Given the description of an element on the screen output the (x, y) to click on. 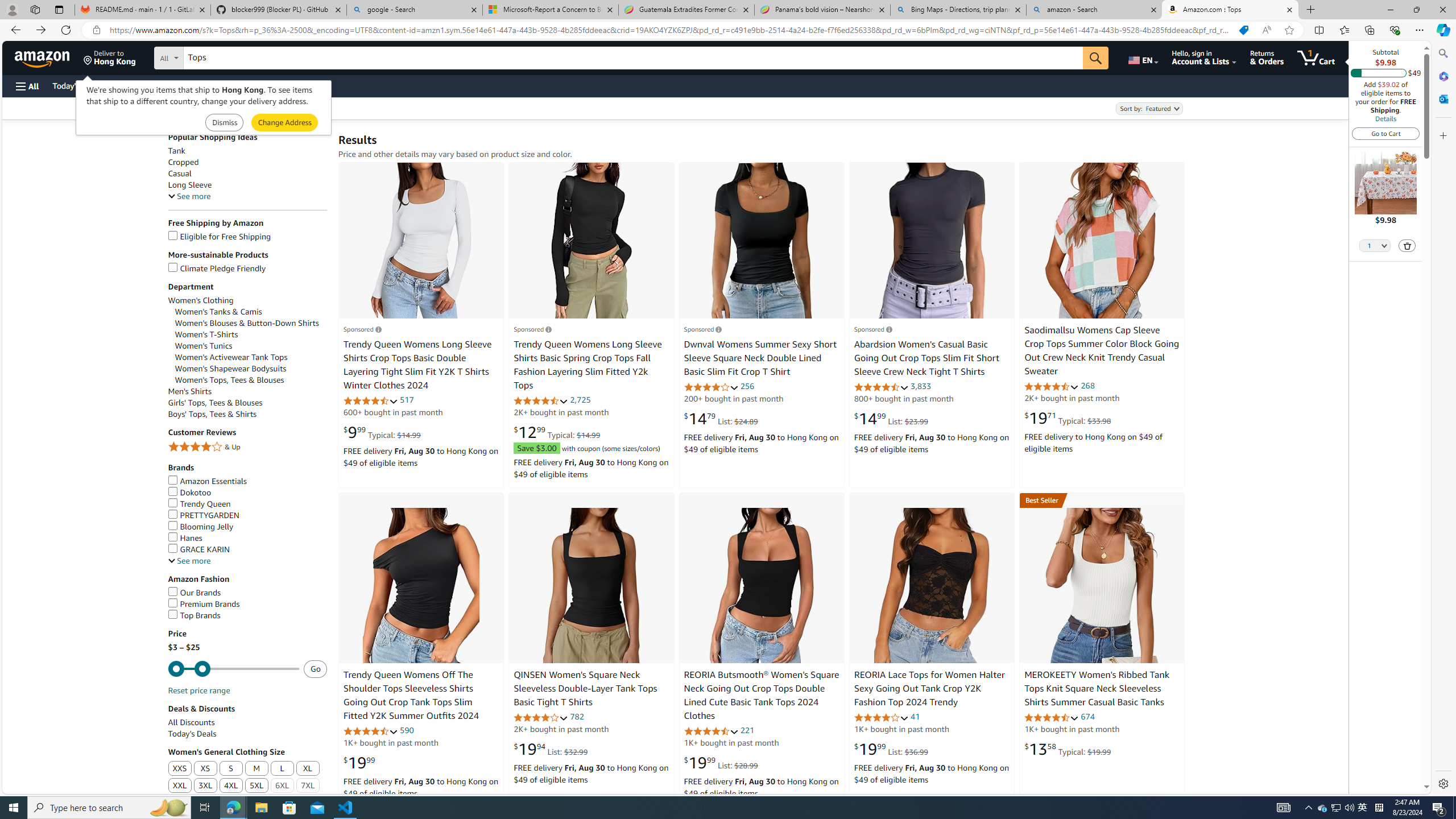
PRETTYGARDEN (247, 515)
Registry (205, 85)
$19.99 (359, 762)
$9.99 Typical: $14.99 (381, 431)
Top Brands (247, 615)
M (256, 768)
268 (1087, 384)
XL (307, 768)
